Given the description of an element on the screen output the (x, y) to click on. 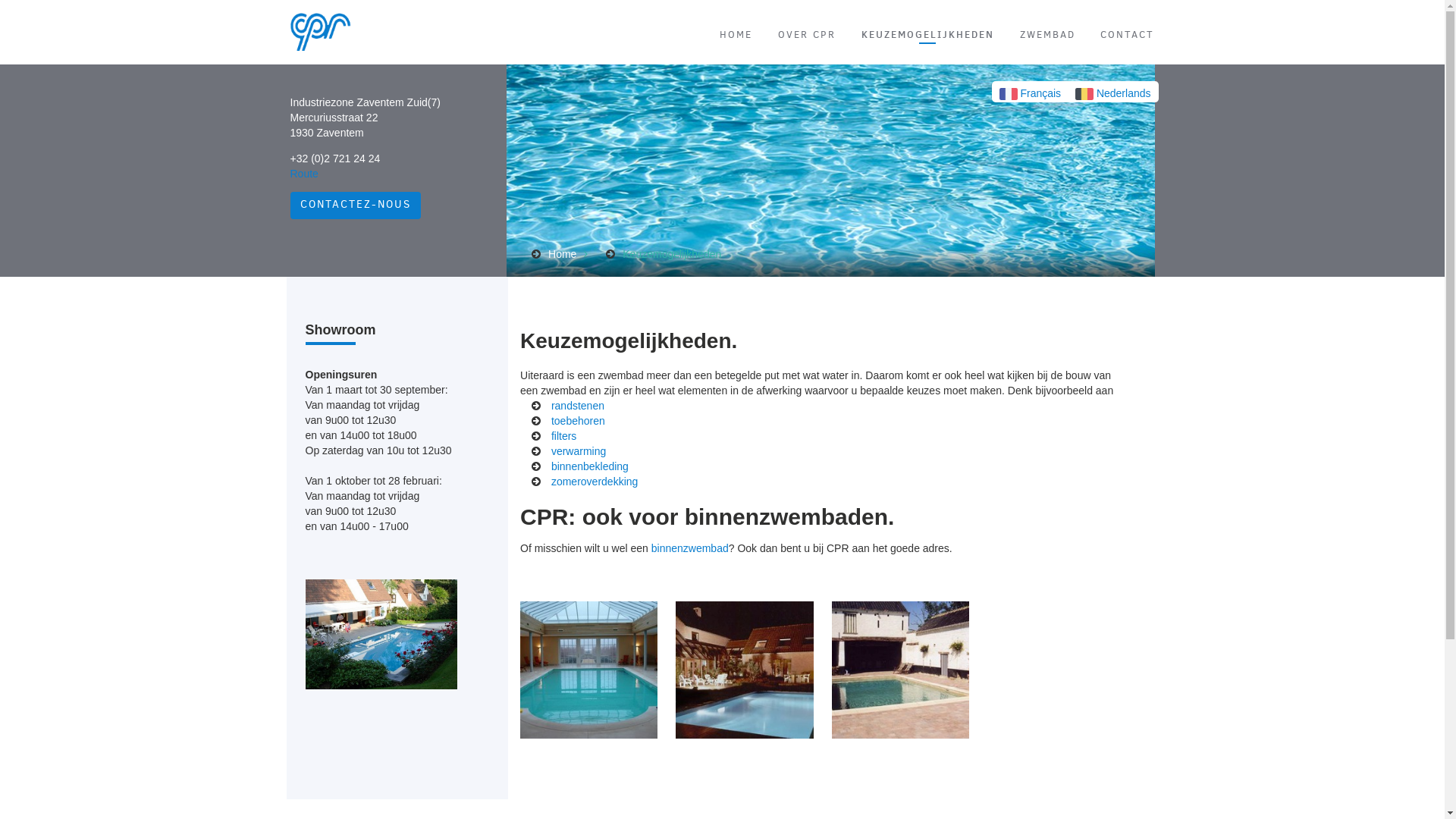
verwarming Element type: text (578, 450)
zomeroverdekking Element type: text (594, 480)
randstenen Element type: text (577, 404)
Home Element type: text (562, 253)
Keuzemogelijkheden Element type: text (671, 253)
binnenbekleding Element type: text (589, 465)
filters Element type: text (563, 435)
Nederlands Element type: text (1113, 93)
toebehoren Element type: text (578, 420)
CONTACTEZ-NOUS Element type: text (354, 205)
HOME Element type: text (735, 34)
CONTACT Element type: text (1127, 34)
binnenzwembad Element type: text (689, 547)
ZWEMBAD Element type: text (1047, 34)
KEUZEMOGELIJKHEDEN Element type: text (927, 33)
Route Element type: text (303, 173)
OVER CPR Element type: text (806, 34)
